Given the description of an element on the screen output the (x, y) to click on. 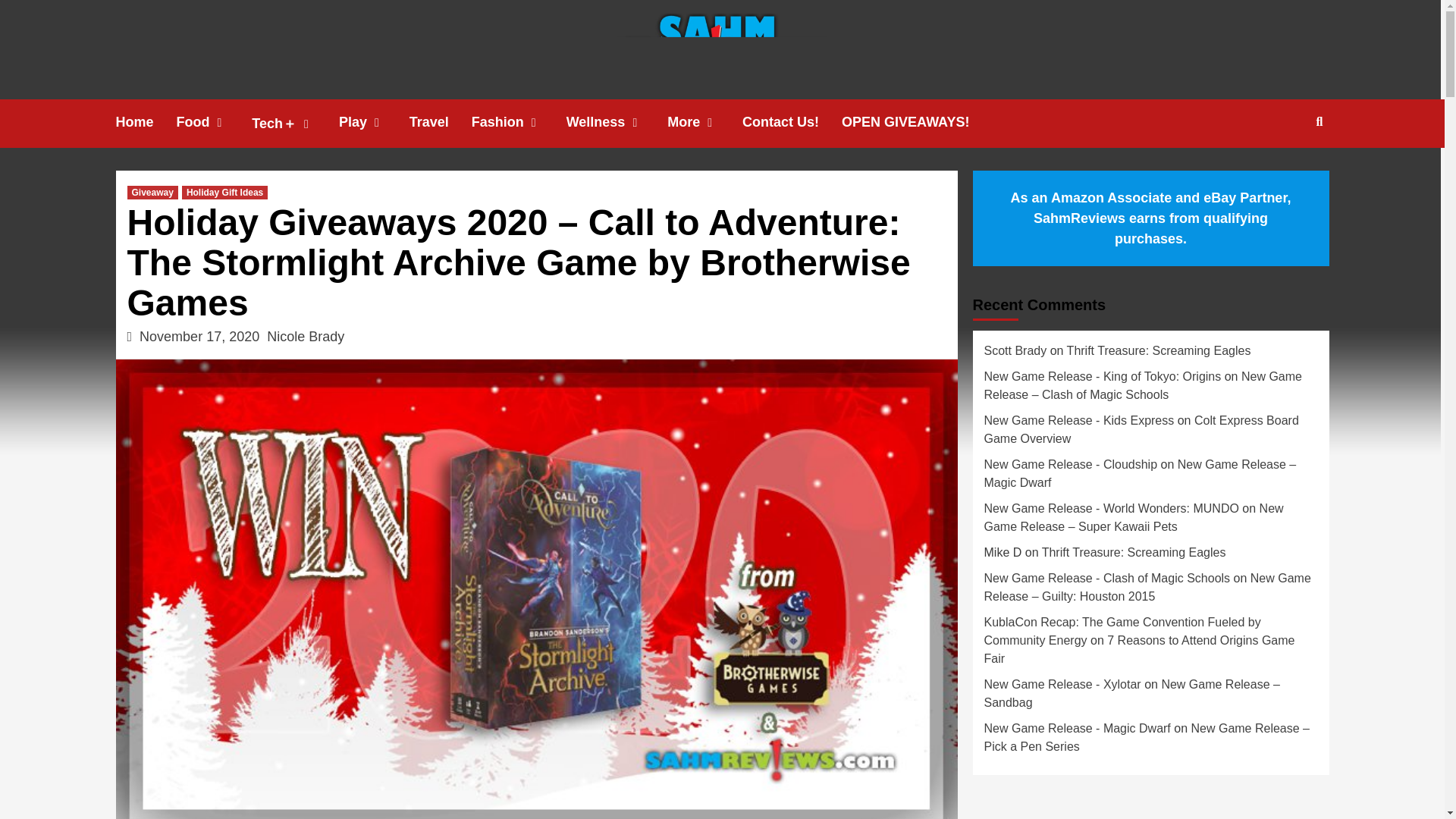
Fashion (518, 122)
Home (145, 122)
Travel (440, 122)
Food (213, 122)
More (704, 122)
Wellness (617, 122)
Play (374, 122)
